Given the description of an element on the screen output the (x, y) to click on. 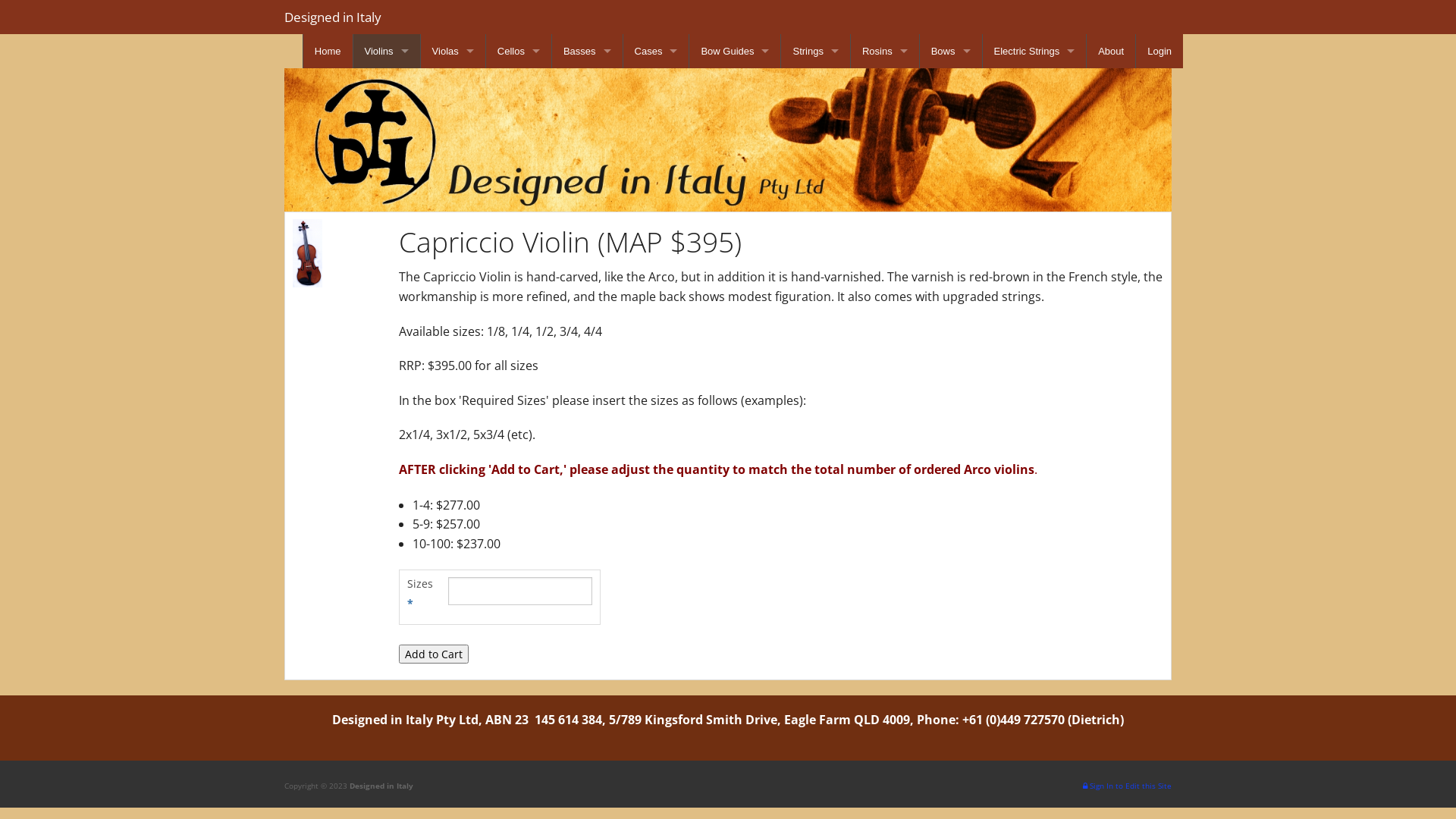
Bows Element type: text (950, 51)
Rosins Element type: text (884, 51)
Add to Cart Element type: text (433, 653)
Violas Element type: text (452, 51)
Cellos Element type: text (518, 51)
Login Element type: text (1159, 51)
Home Element type: text (327, 51)
Cases Element type: text (656, 51)
Bow Guides Element type: text (734, 51)
Sign In to Edit this Site Element type: text (1126, 785)
About Element type: text (1110, 51)
Basses Element type: text (587, 51)
Strings Element type: text (815, 51)
Violins Element type: text (386, 51)
Designed in Italy Element type: text (332, 17)
Electric Strings Element type: text (1034, 51)
